Given the description of an element on the screen output the (x, y) to click on. 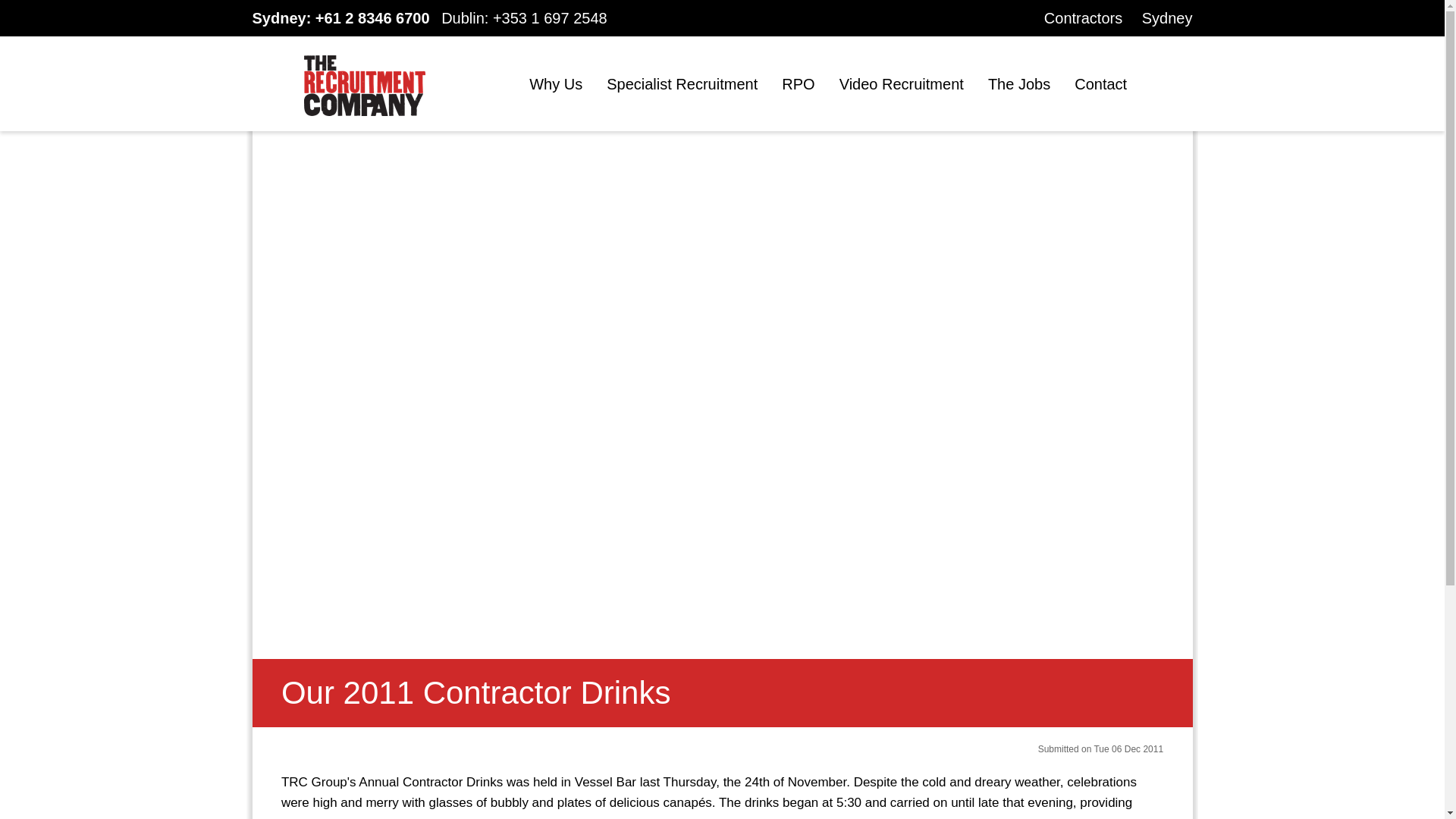
Video Recruitment (901, 84)
Specialist Recruitment (681, 84)
RPO (797, 84)
The Jobs (1018, 84)
Contractors (1082, 17)
Contact (1100, 84)
Sydney (1166, 17)
Why Us (556, 84)
